Given the description of an element on the screen output the (x, y) to click on. 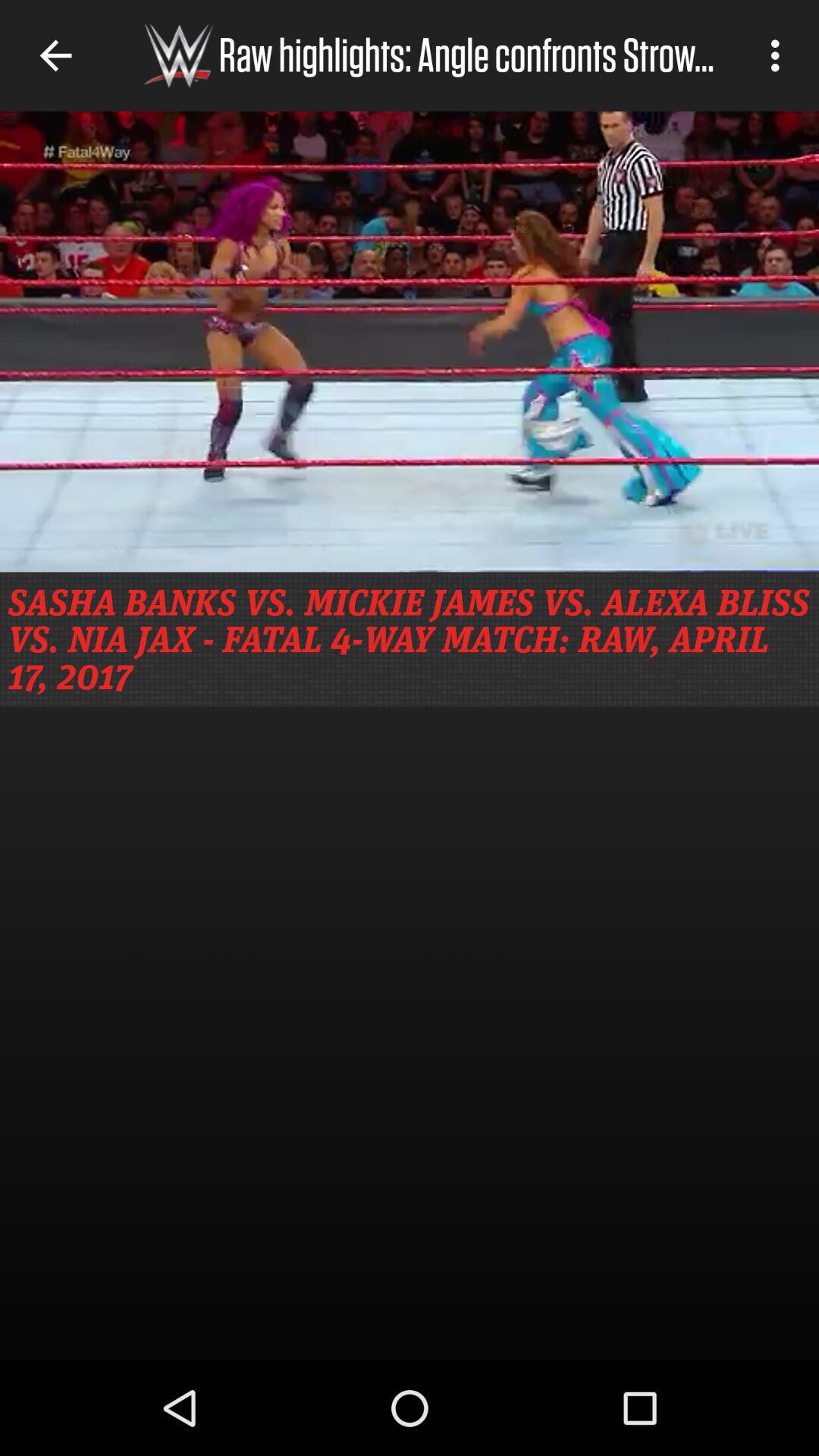
select icon to the right of raw highlights angle (779, 55)
